Given the description of an element on the screen output the (x, y) to click on. 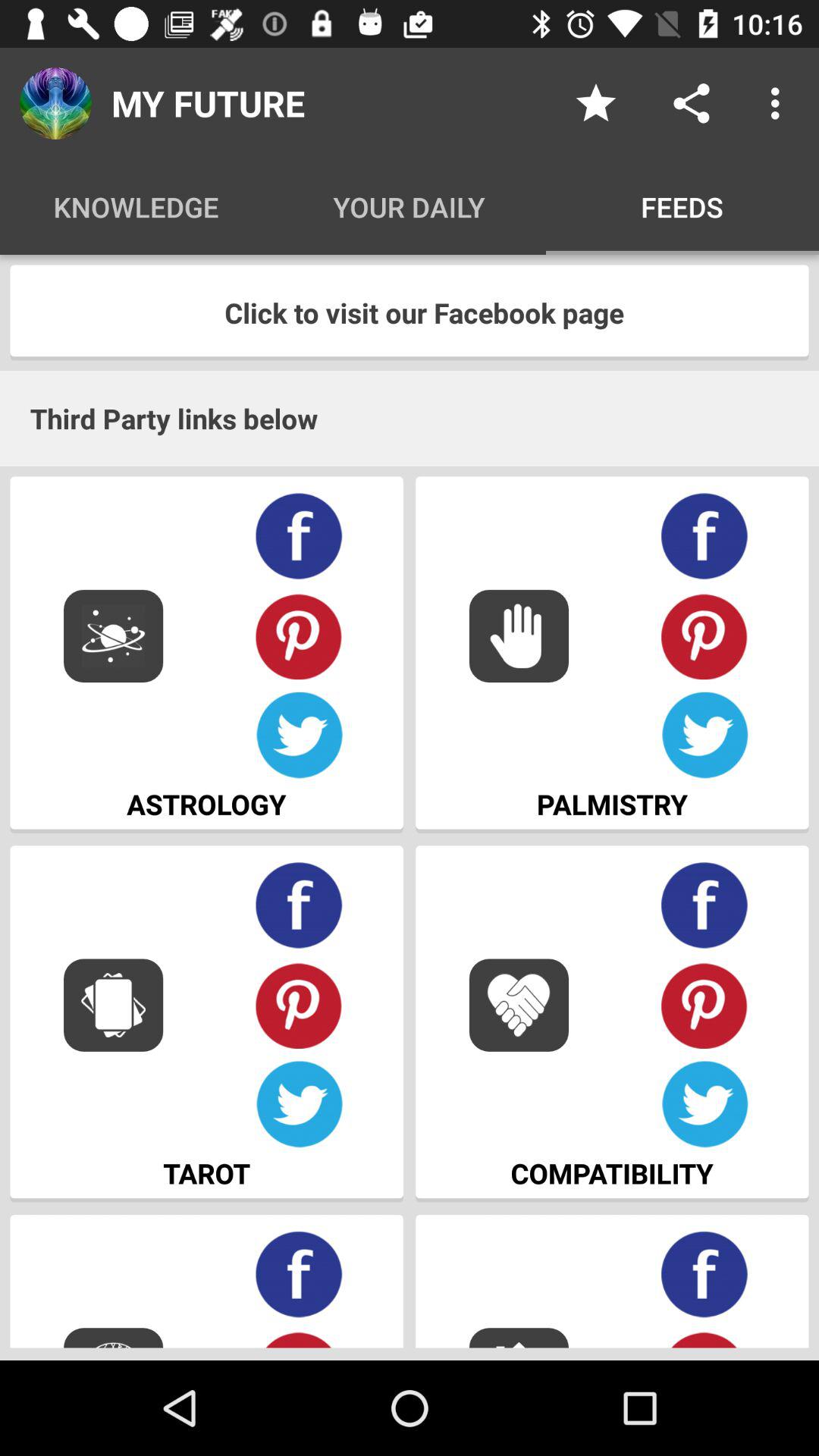
launch the icon above the click to visit item (779, 103)
